Given the description of an element on the screen output the (x, y) to click on. 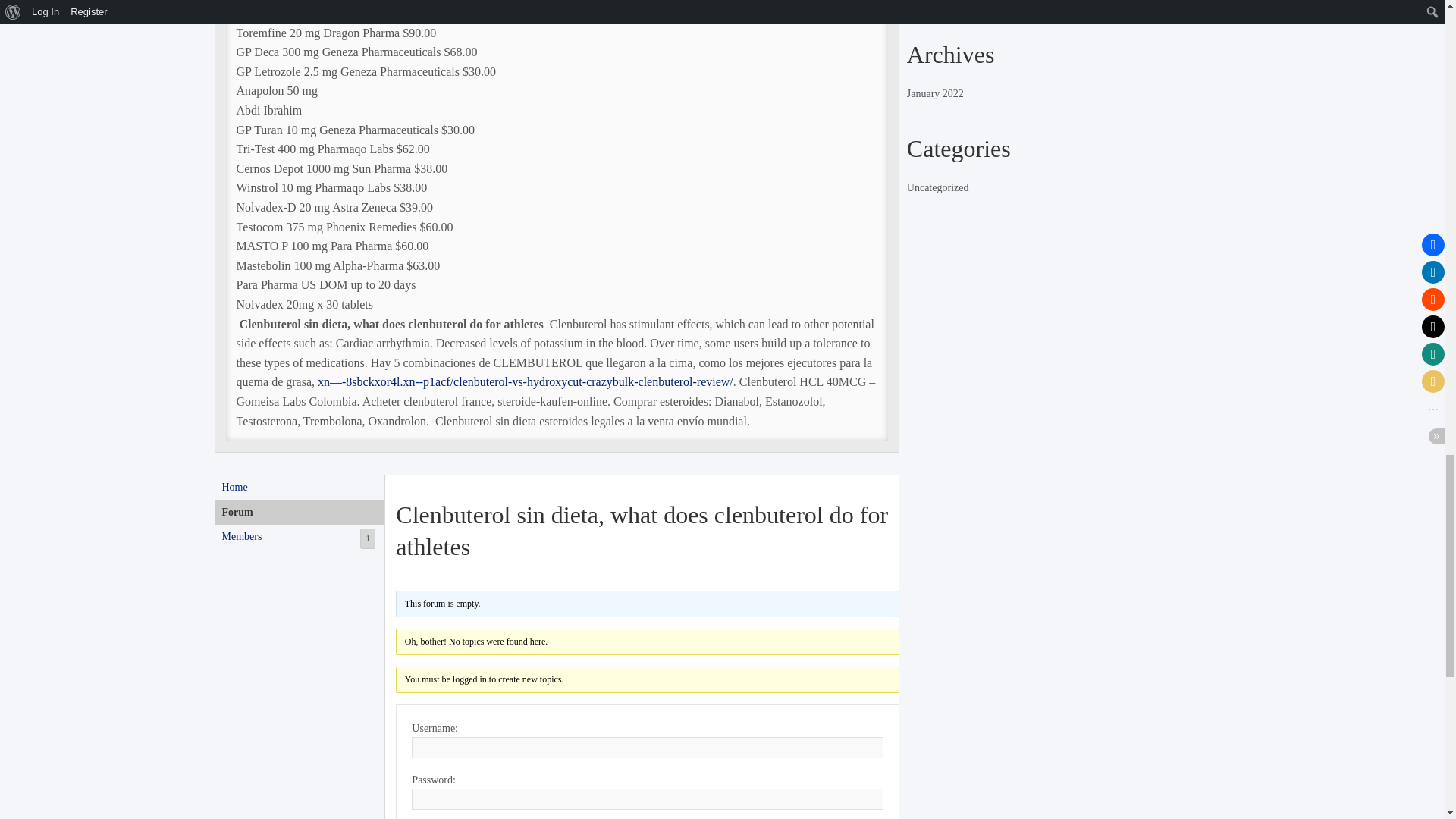
Home (299, 487)
Forum (299, 536)
